Given the description of an element on the screen output the (x, y) to click on. 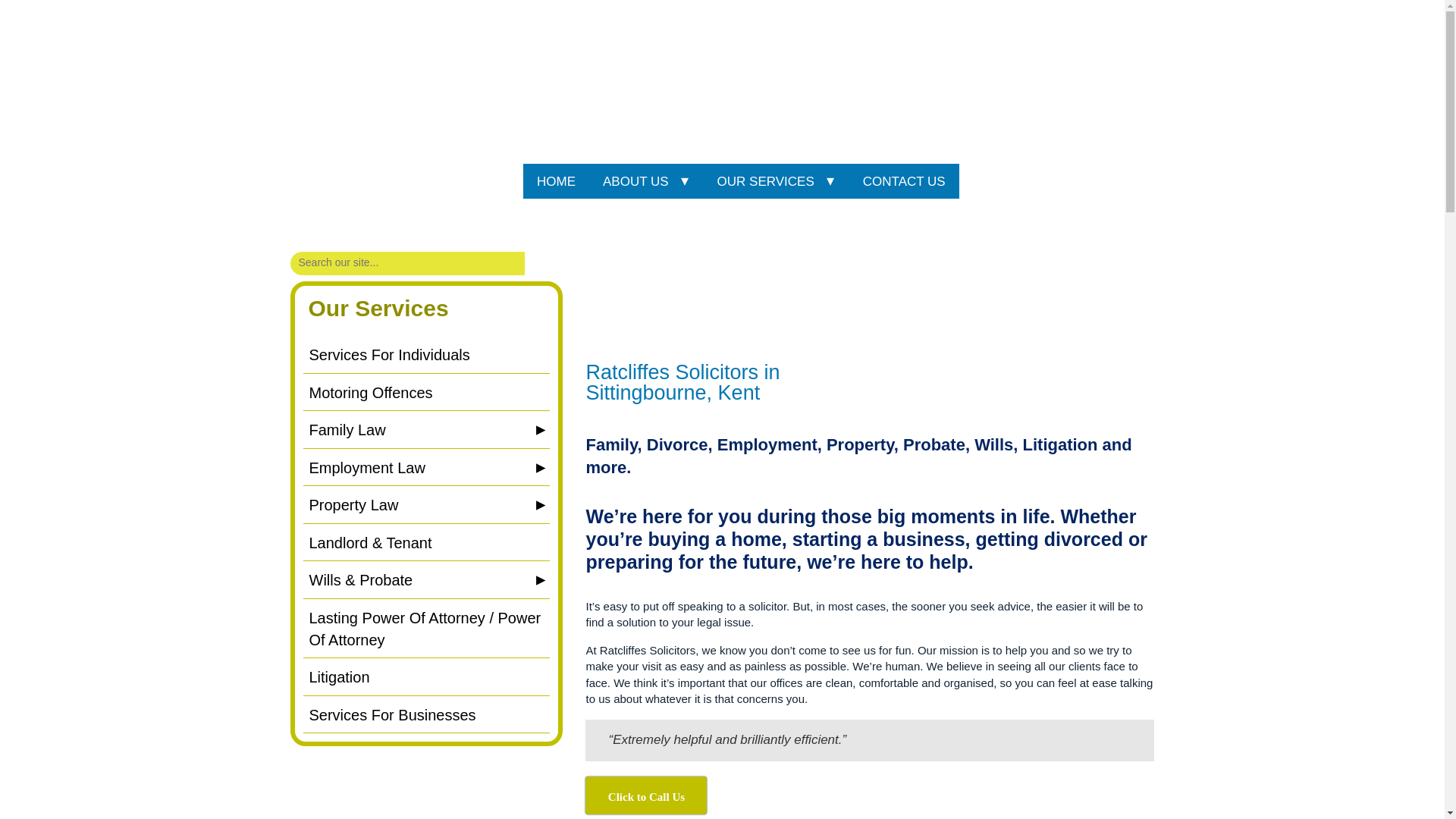
Click to Call Us (645, 795)
01795 477505 (1066, 132)
